Given the description of an element on the screen output the (x, y) to click on. 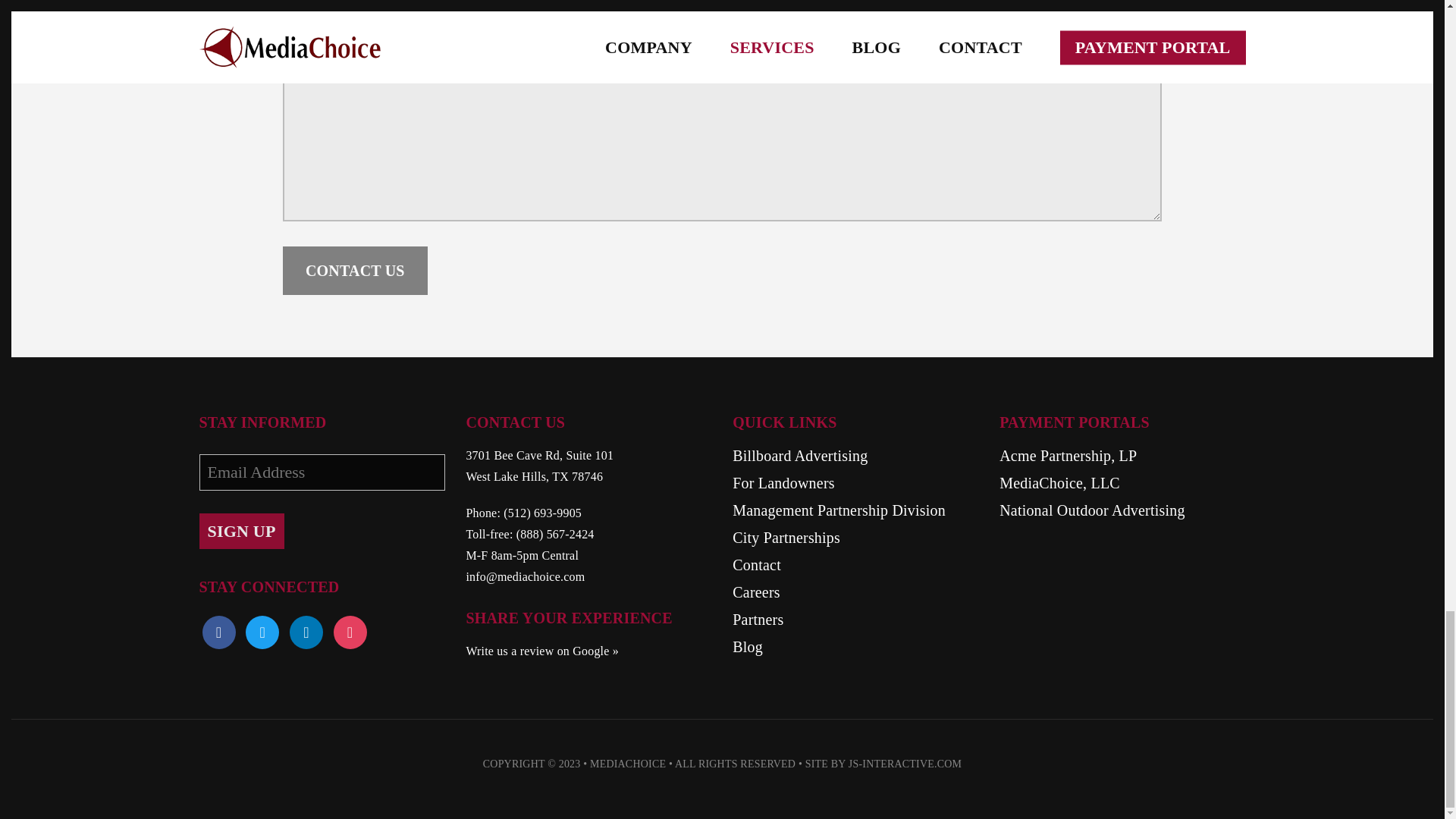
Partners (855, 619)
Acme Partnership, LP (1121, 455)
MediaChoice, LLC (1121, 482)
twitter (262, 632)
Facebook (218, 632)
Contact (855, 564)
Management Partnership Division (855, 509)
ACME (1121, 455)
facebook (218, 632)
Blog (855, 646)
